Given the description of an element on the screen output the (x, y) to click on. 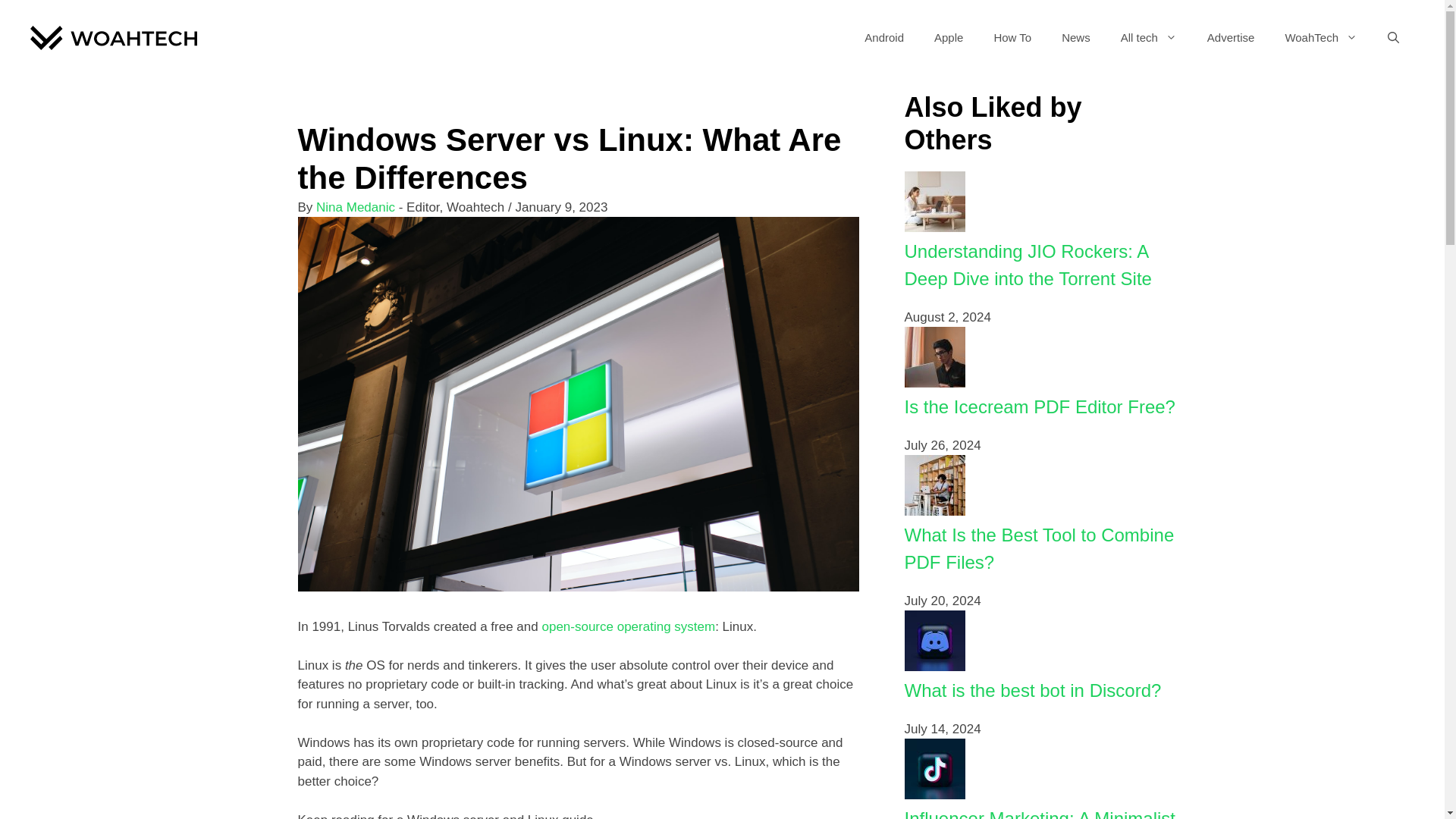
Nina Medanic (354, 206)
What Is the Best Tool to Combine PDF Files? (1038, 548)
Understanding JIO Rockers: A Deep Dive into the Torrent Site (1027, 264)
Understanding JIO Rockers: A Deep Dive into the Torrent Site (933, 227)
All tech (1148, 37)
WoahTech (1321, 37)
Is the Icecream PDF Editor Free? (1039, 406)
Understanding JIO Rockers: A Deep Dive into the Torrent Site (1027, 264)
What is the best bot in Discord? (1032, 690)
Nina Medanic (354, 206)
